Given the description of an element on the screen output the (x, y) to click on. 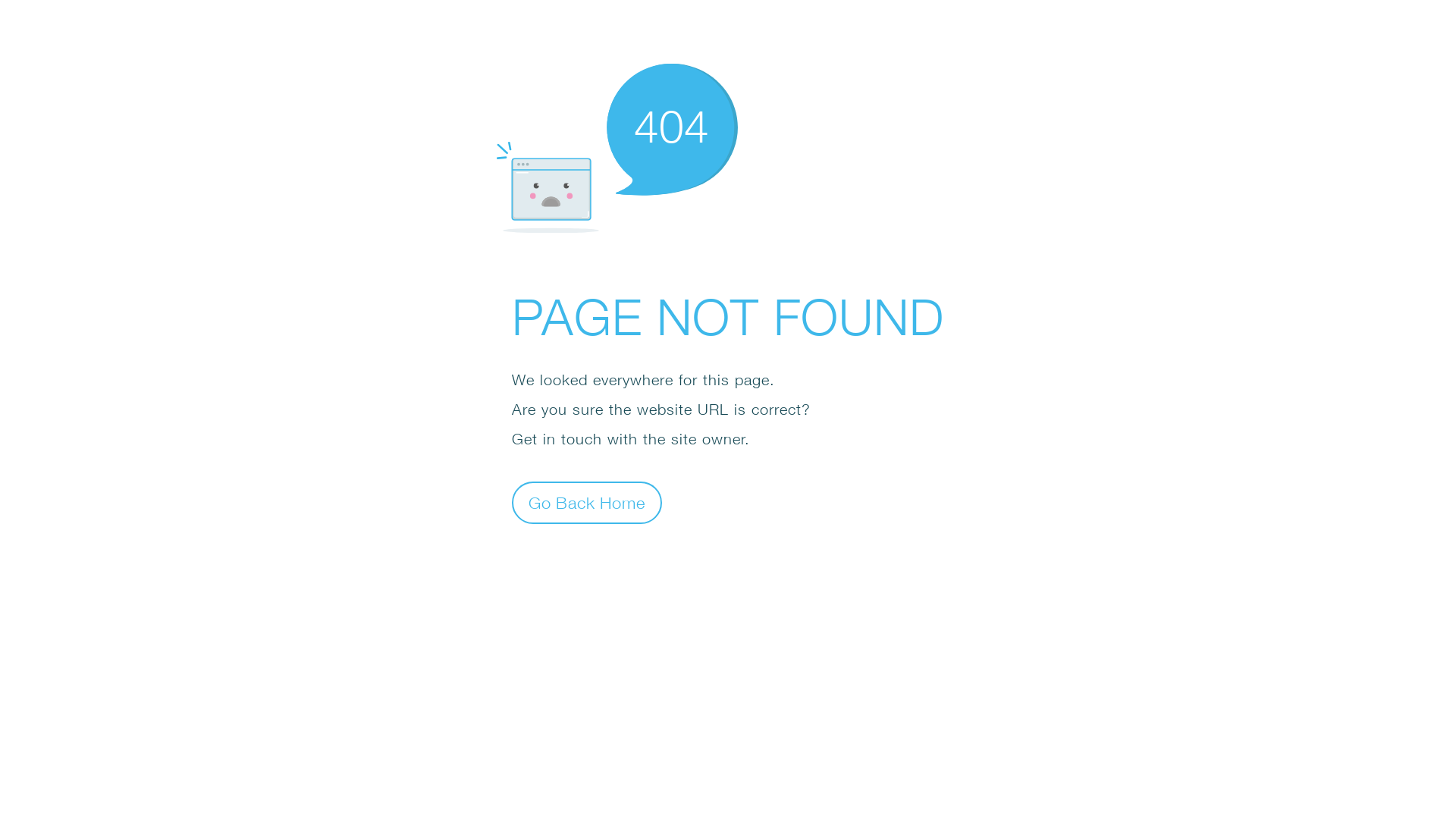
Go Back Home Element type: text (586, 502)
